Given the description of an element on the screen output the (x, y) to click on. 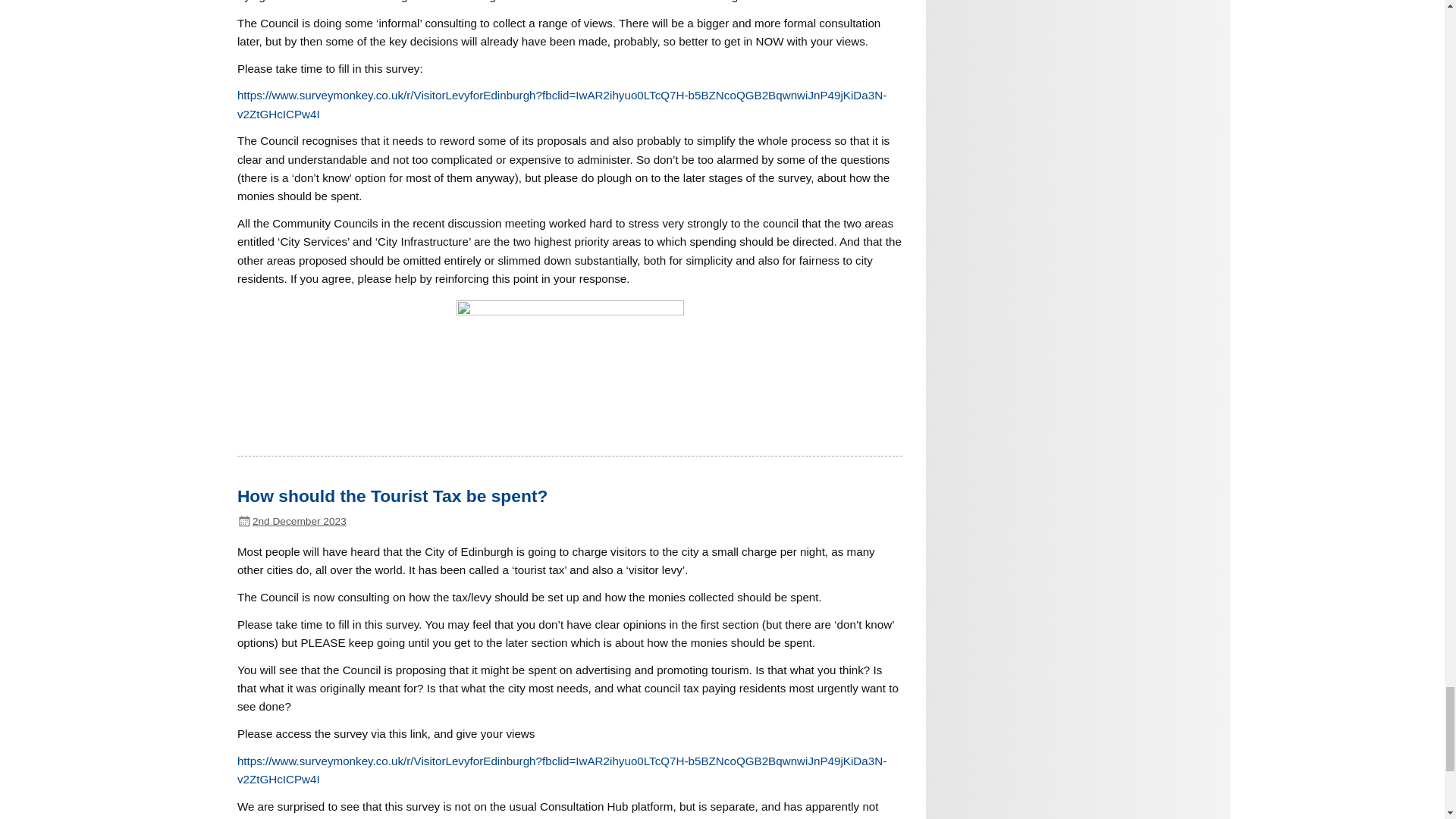
12:16 PM (298, 521)
